Given the description of an element on the screen output the (x, y) to click on. 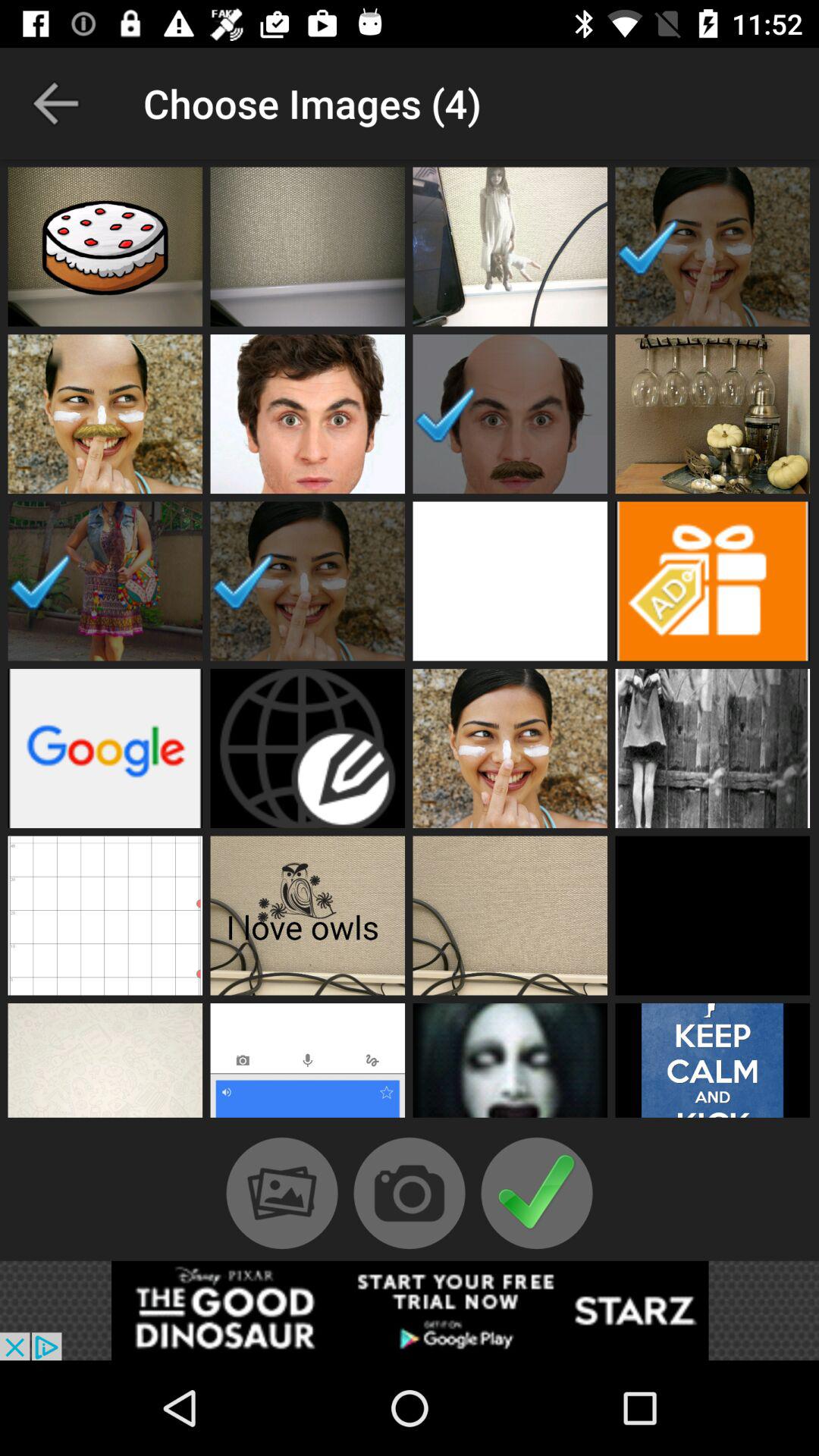
select this tile (104, 915)
